Given the description of an element on the screen output the (x, y) to click on. 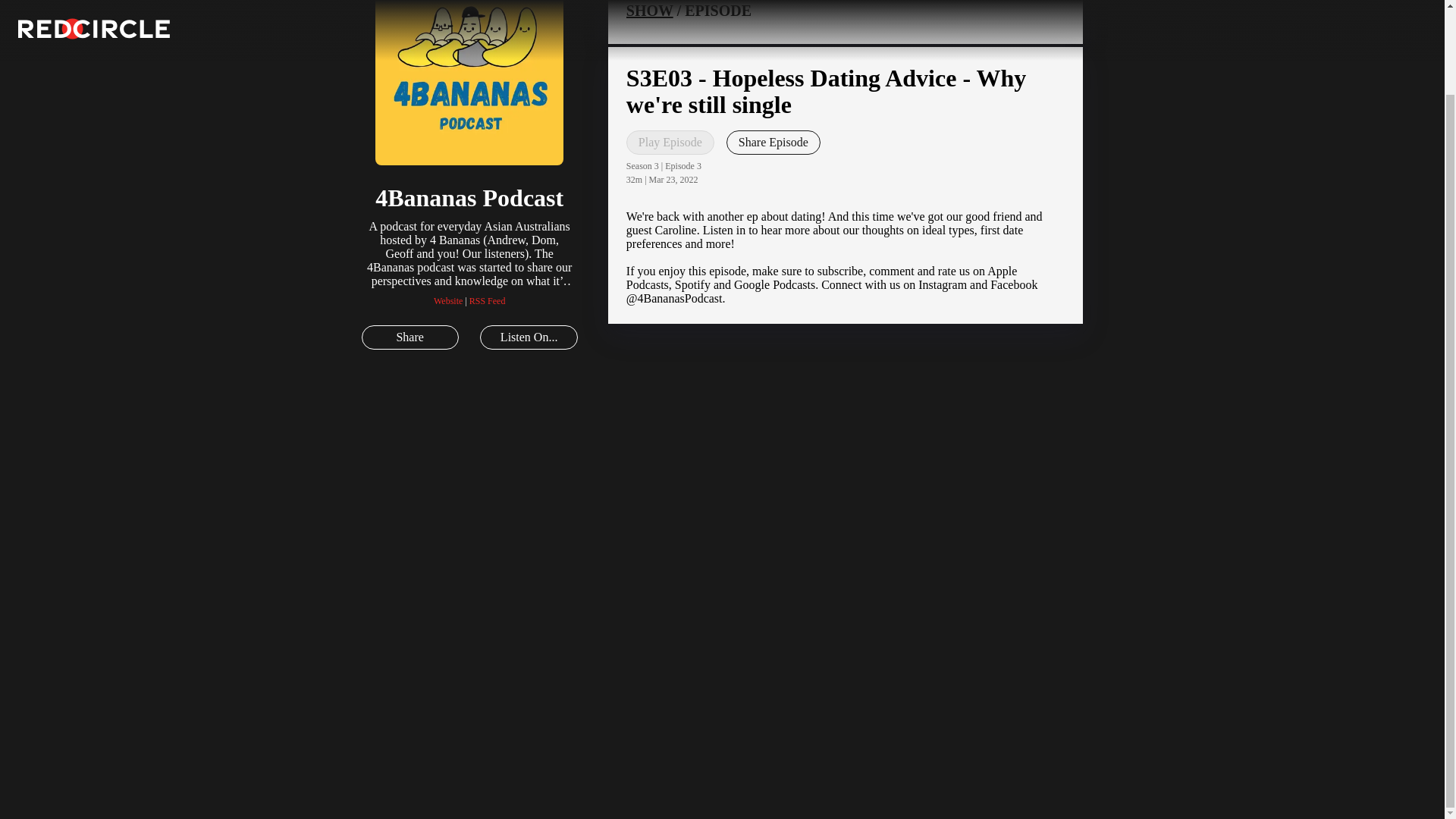
Listen On... (528, 337)
Website (448, 300)
RSS Feed (486, 300)
Share Episode (773, 142)
Share (409, 337)
Play Episode (670, 142)
SHOW (649, 10)
